Given the description of an element on the screen output the (x, y) to click on. 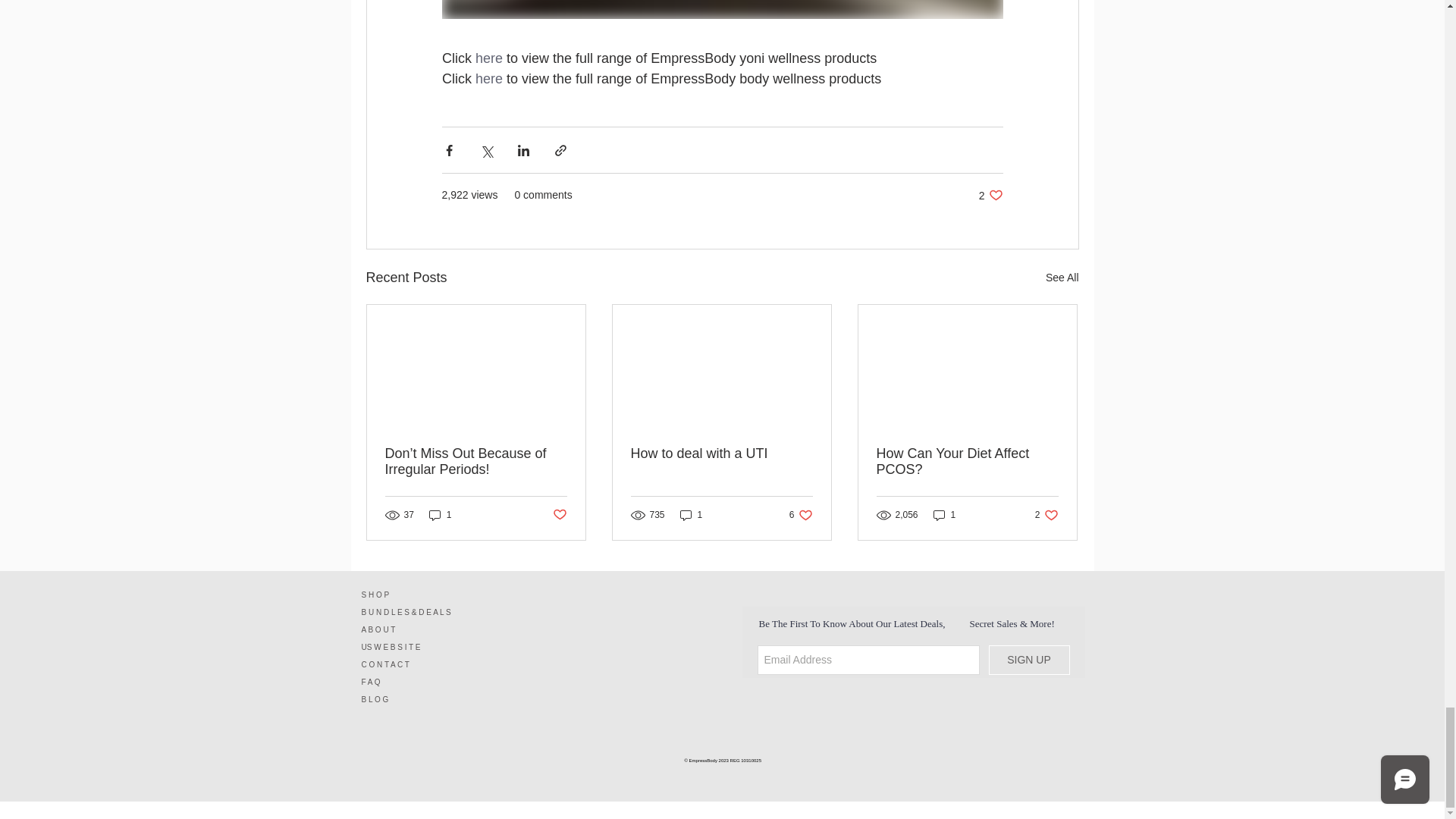
1 (440, 514)
See All (1061, 277)
here (488, 57)
How to deal with a UTI (721, 453)
here (488, 77)
Post not marked as liked (558, 514)
